Given the description of an element on the screen output the (x, y) to click on. 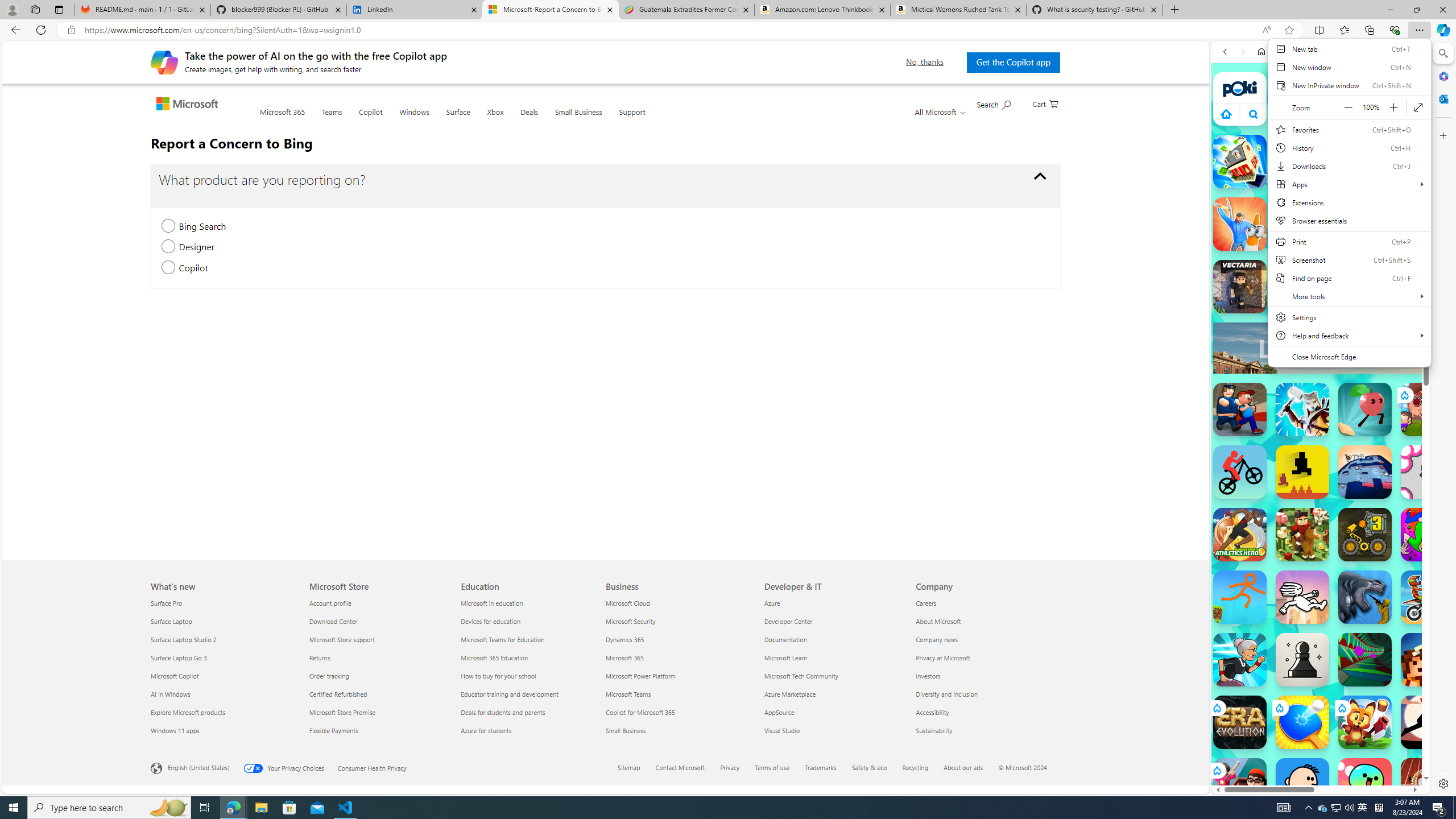
Dynamics 365 (678, 638)
Microsoft Power Platform (678, 675)
Games for Girls (1320, 407)
Downloads (1349, 166)
Search results from poki.com (1299, 443)
Fox Island Builder Fox Island Builder (1364, 722)
Microsoft Security Business (630, 620)
Microsoft Learn Developer & IT (786, 656)
Small Business Business (625, 729)
How to buy for your school (529, 675)
Copilot (370, 118)
Into the Pit (1427, 471)
